Given the description of an element on the screen output the (x, y) to click on. 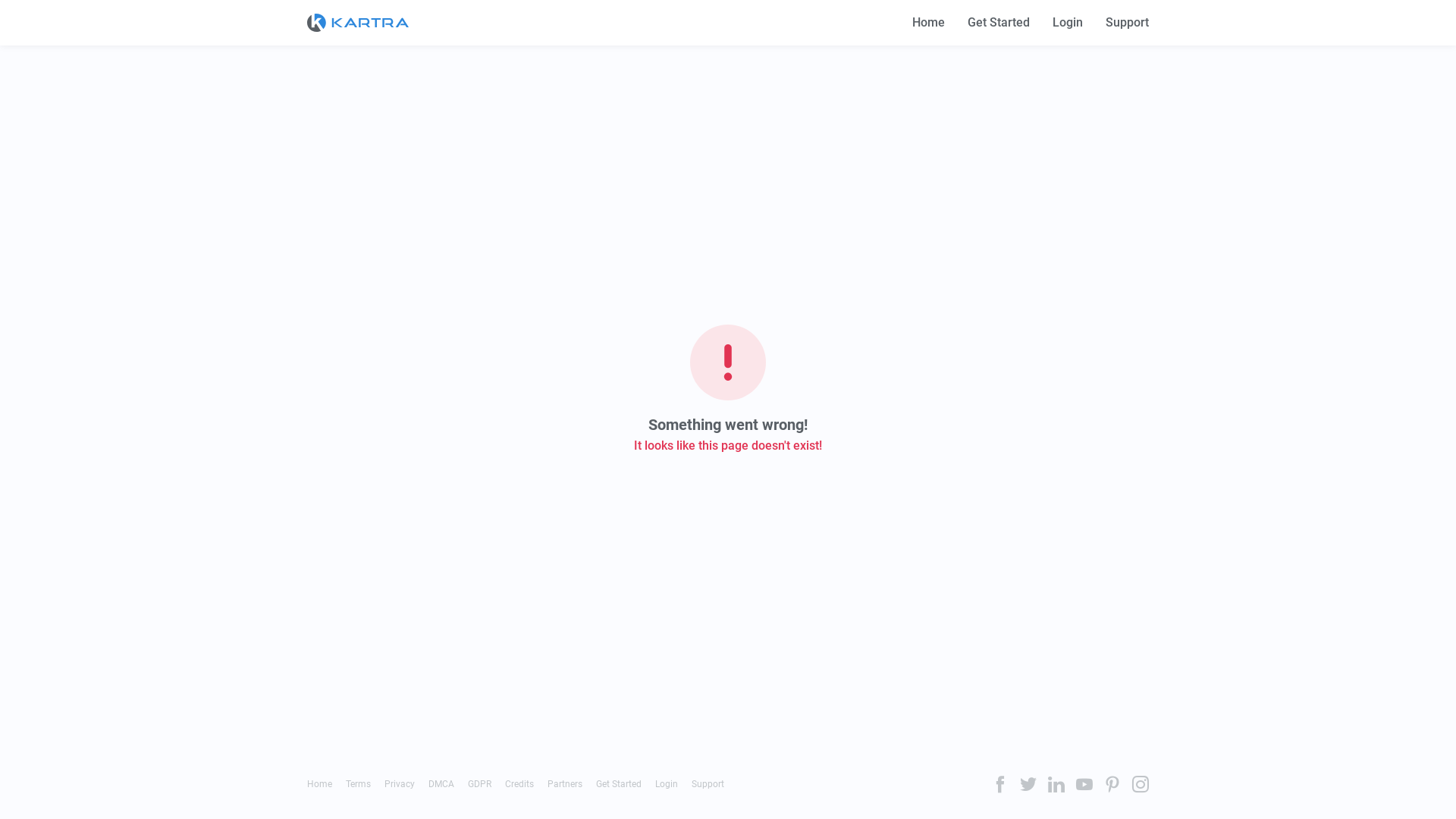
Login Element type: text (666, 783)
Home Element type: text (319, 783)
Get Started Element type: text (618, 783)
Terms Element type: text (357, 783)
Support Element type: text (707, 783)
Get Started Element type: text (998, 22)
Partners Element type: text (564, 783)
Credits Element type: text (519, 783)
Home Element type: text (928, 22)
Privacy Element type: text (399, 783)
DMCA Element type: text (441, 783)
Support Element type: text (1126, 22)
Login Element type: text (1067, 22)
GDPR Element type: text (479, 783)
